Given the description of an element on the screen output the (x, y) to click on. 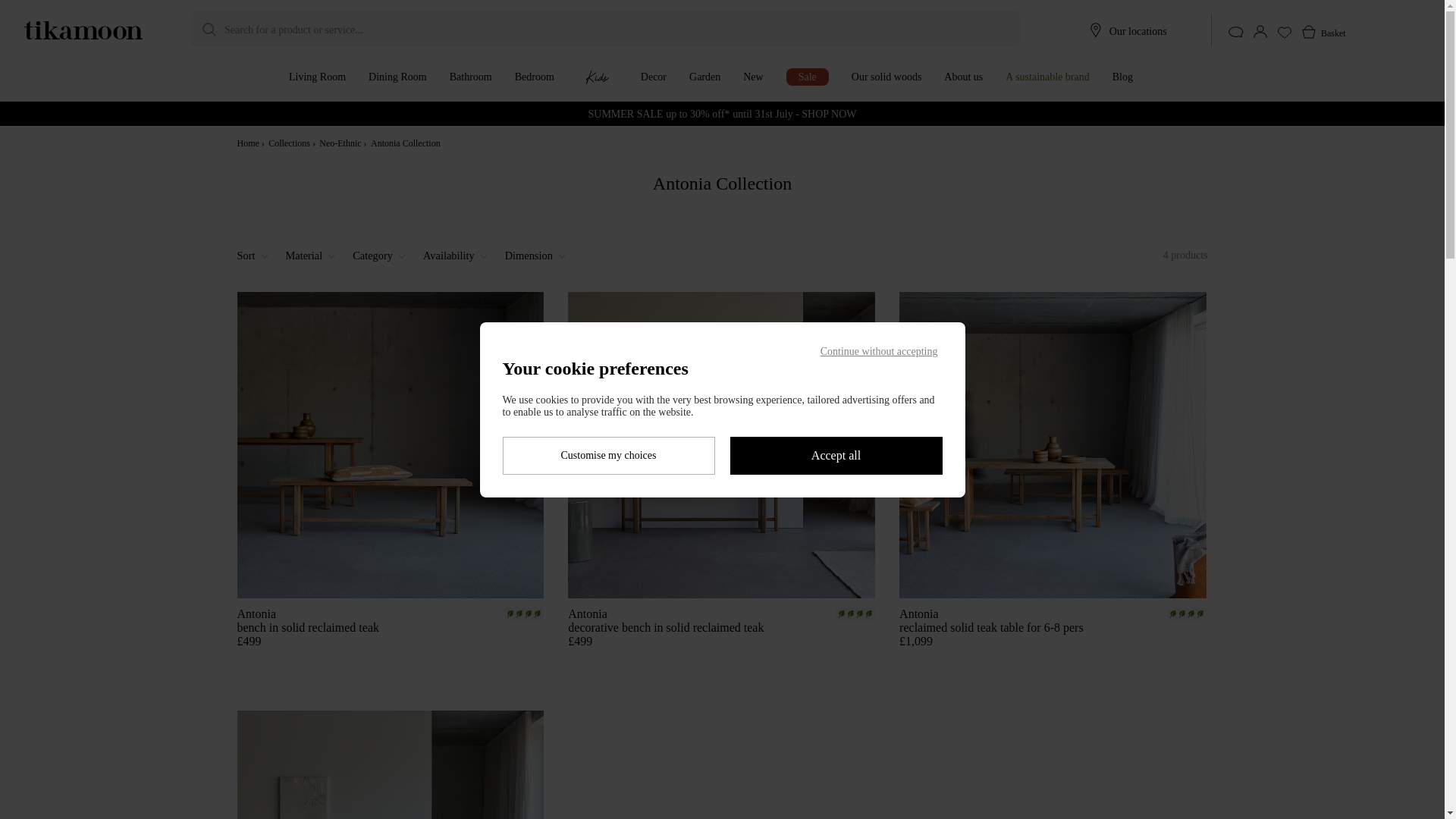
Bathroom (470, 76)
Bedroom (534, 76)
Our locations (1138, 30)
Wishlist (1284, 31)
Dining Room (397, 76)
Dining Room (397, 76)
Contact (1235, 39)
Living Room (317, 76)
Contact (1235, 31)
My account (1259, 31)
Living Room (317, 76)
Basket (1318, 38)
